Given the description of an element on the screen output the (x, y) to click on. 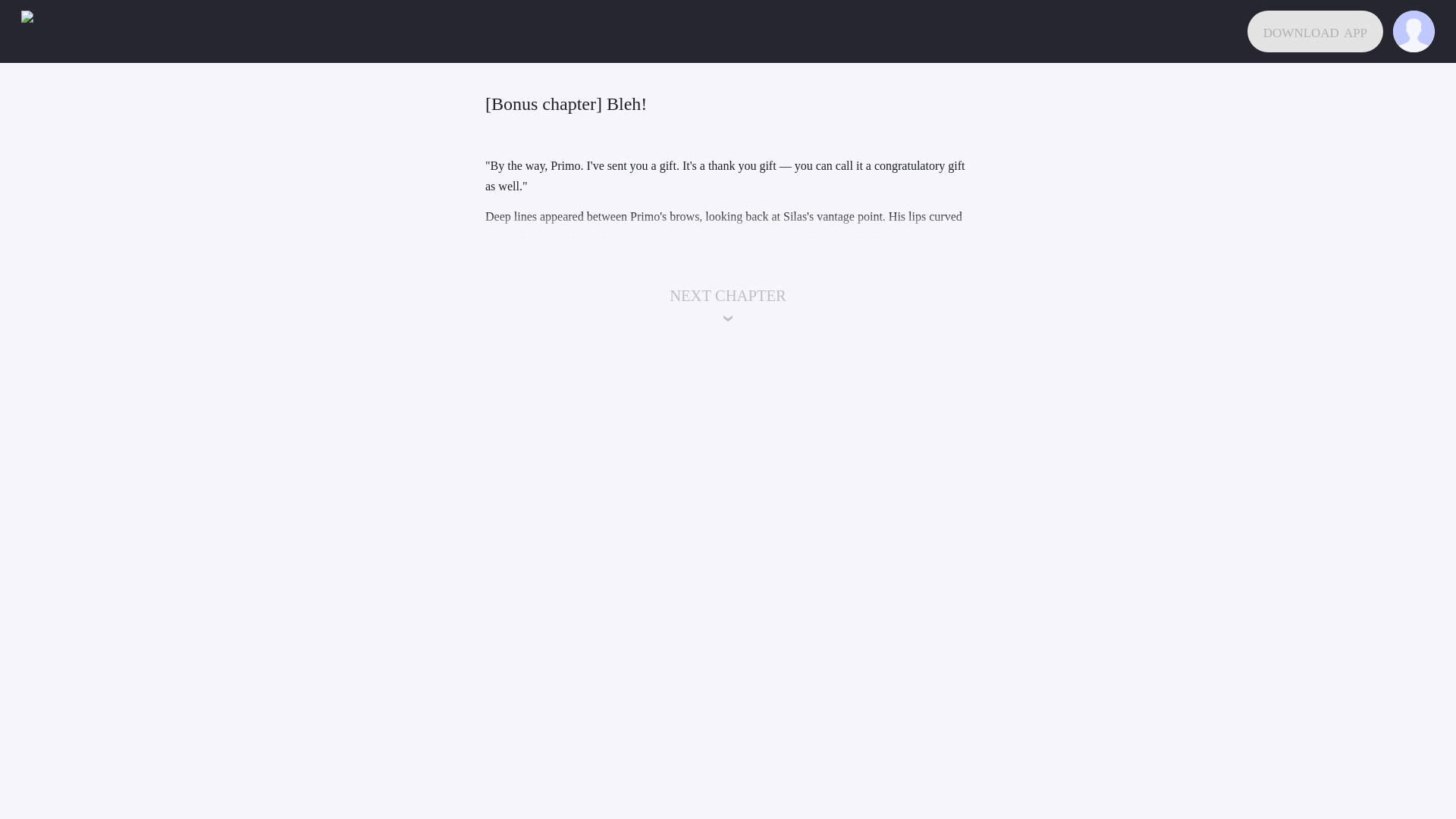
Webnovel (41, 31)
download app (1315, 31)
